Given the description of an element on the screen output the (x, y) to click on. 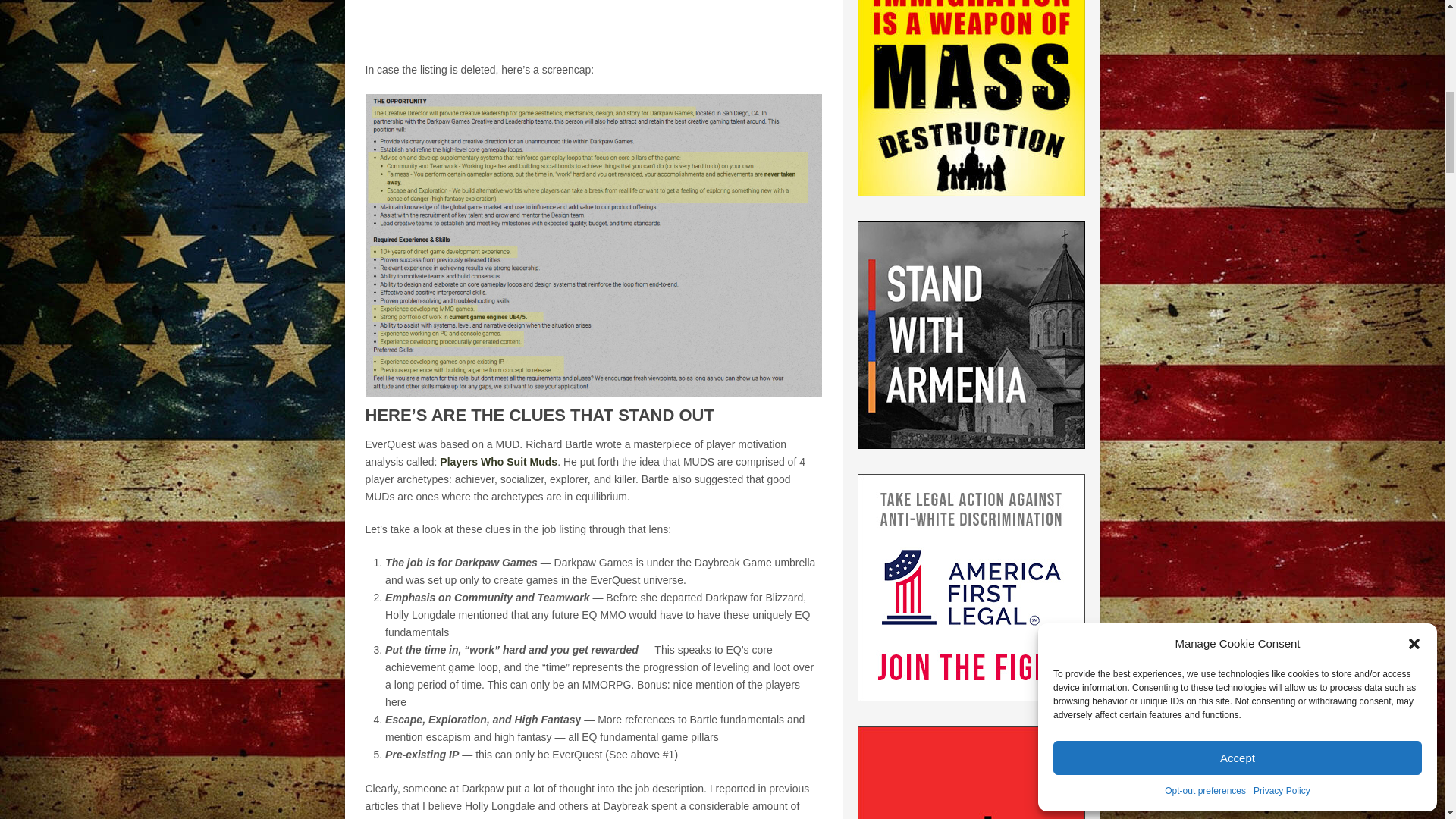
Players Who Suit Muds (498, 461)
